Given the description of an element on the screen output the (x, y) to click on. 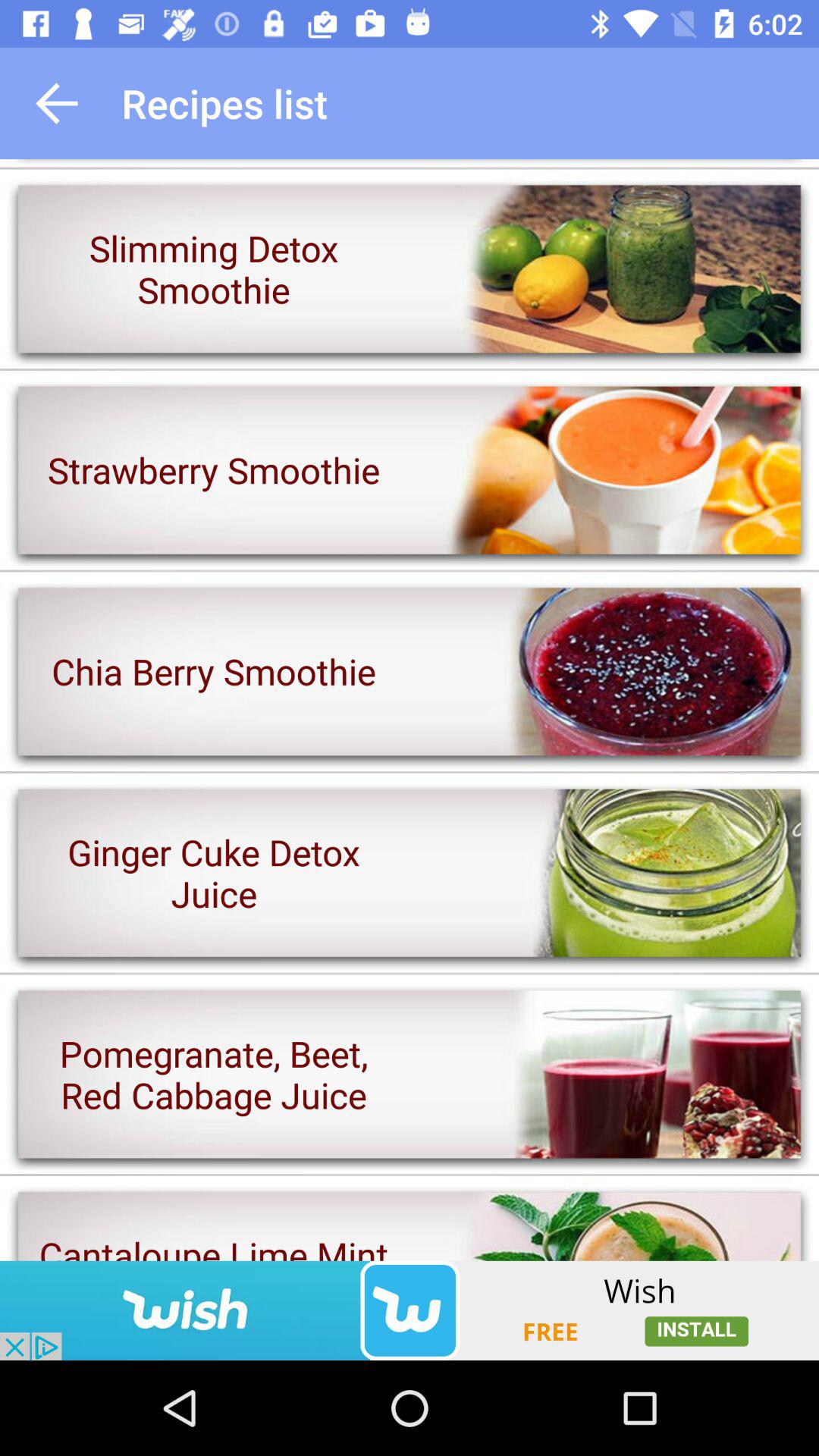
click to install wish (409, 1310)
